Given the description of an element on the screen output the (x, y) to click on. 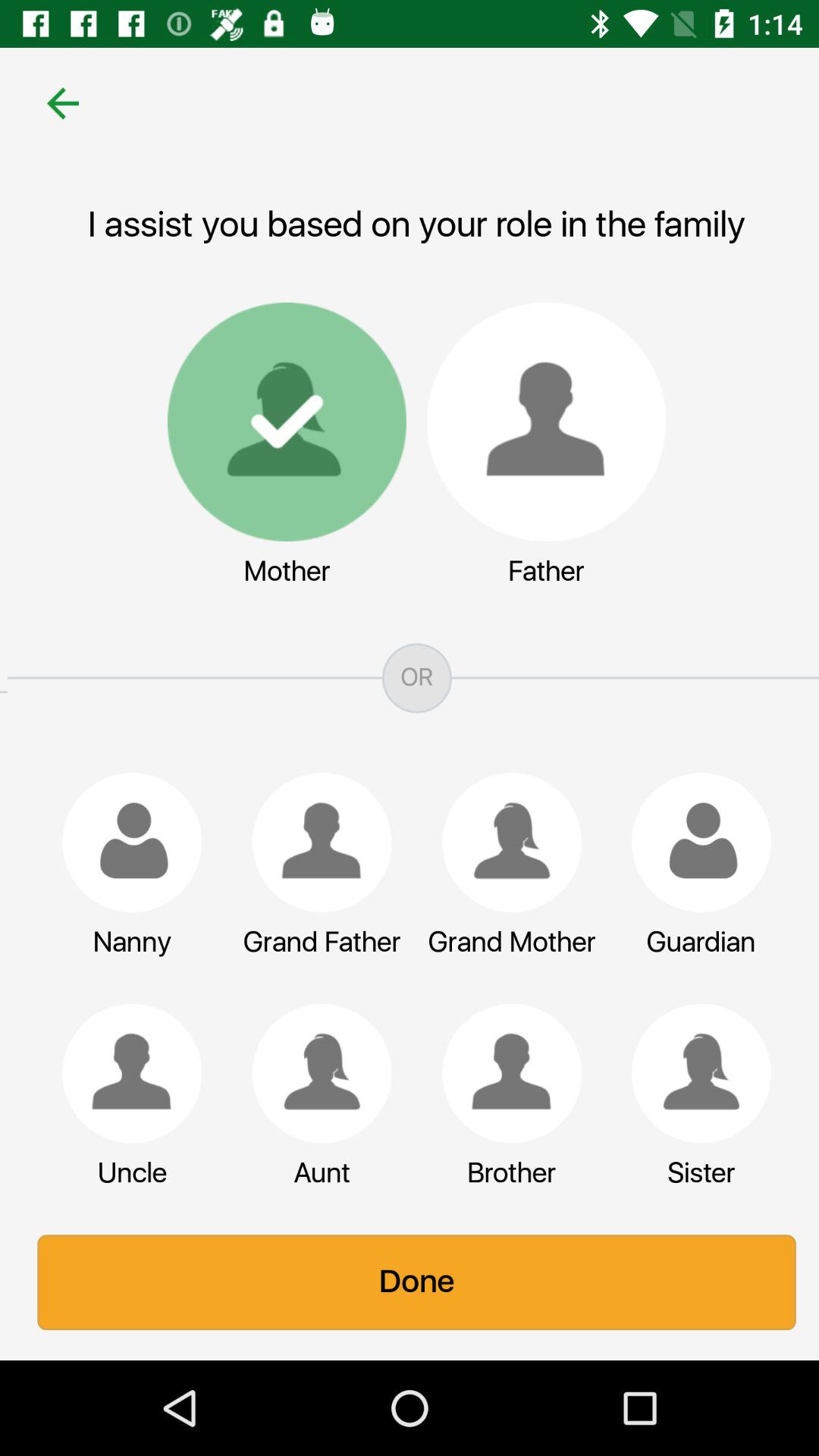
click to save mother contact (279, 421)
